Given the description of an element on the screen output the (x, y) to click on. 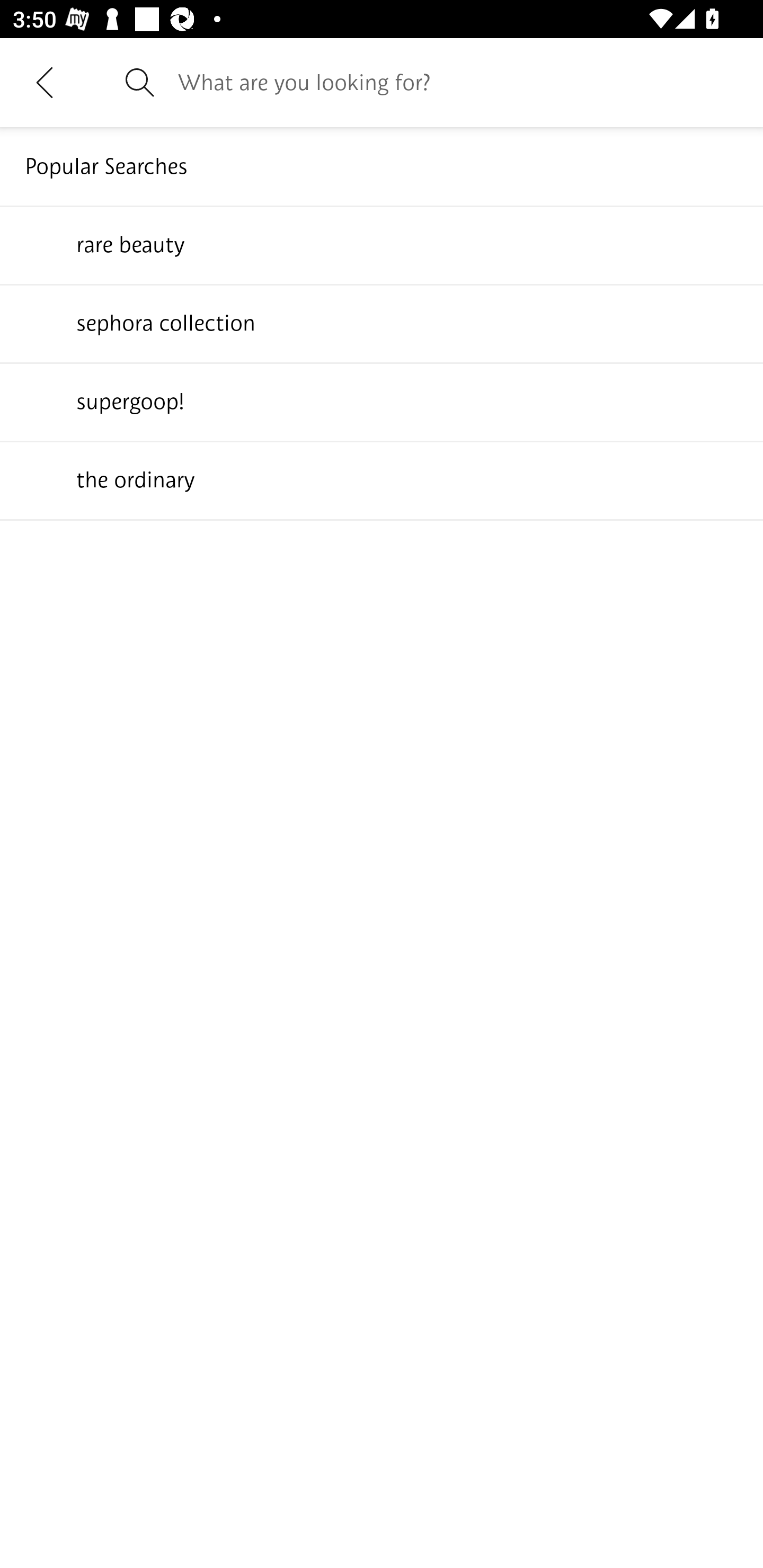
Navigate up (44, 82)
What are you looking for? (457, 82)
rare beauty (381, 244)
sephora collection (381, 322)
supergoop! (381, 401)
the ordinary (381, 479)
